Given the description of an element on the screen output the (x, y) to click on. 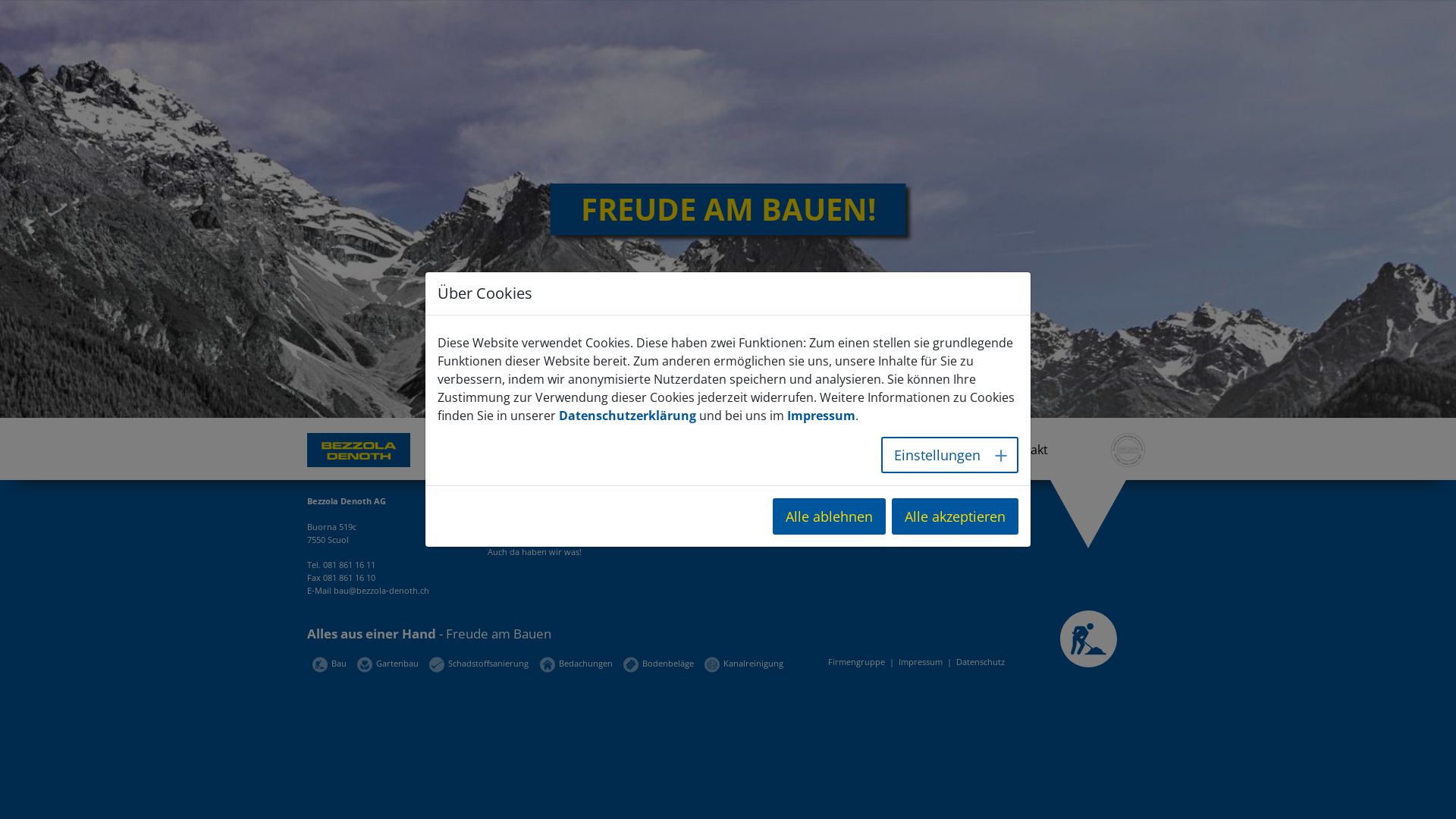
Firmengruppe Element type: text (857, 661)
Unternehmung Element type: text (678, 456)
Gartenbau Element type: text (387, 662)
Kontakt Element type: text (1025, 456)
Auch da haben wir was! Element type: text (533, 551)
Home Element type: hover (367, 450)
Wir haben da was! Element type: text (522, 513)
Kanalreinigung Element type: text (743, 662)
Referenzen Element type: text (812, 456)
Partner Element type: text (924, 456)
Impressum Element type: text (821, 415)
Dienstleistungen Element type: text (528, 456)
Home Element type: hover (1123, 457)
Schadstoffsanierung Element type: text (478, 662)
bau@bezzola-denoth.ch Element type: text (381, 590)
Einstellungen Element type: text (949, 454)
Datenschutz Element type: text (980, 661)
Bau Element type: text (329, 662)
Bedachungen Element type: text (575, 662)
Alle ablehnen Element type: text (828, 516)
Alle akzeptieren Element type: text (954, 516)
Impressum Element type: text (921, 661)
